Given the description of an element on the screen output the (x, y) to click on. 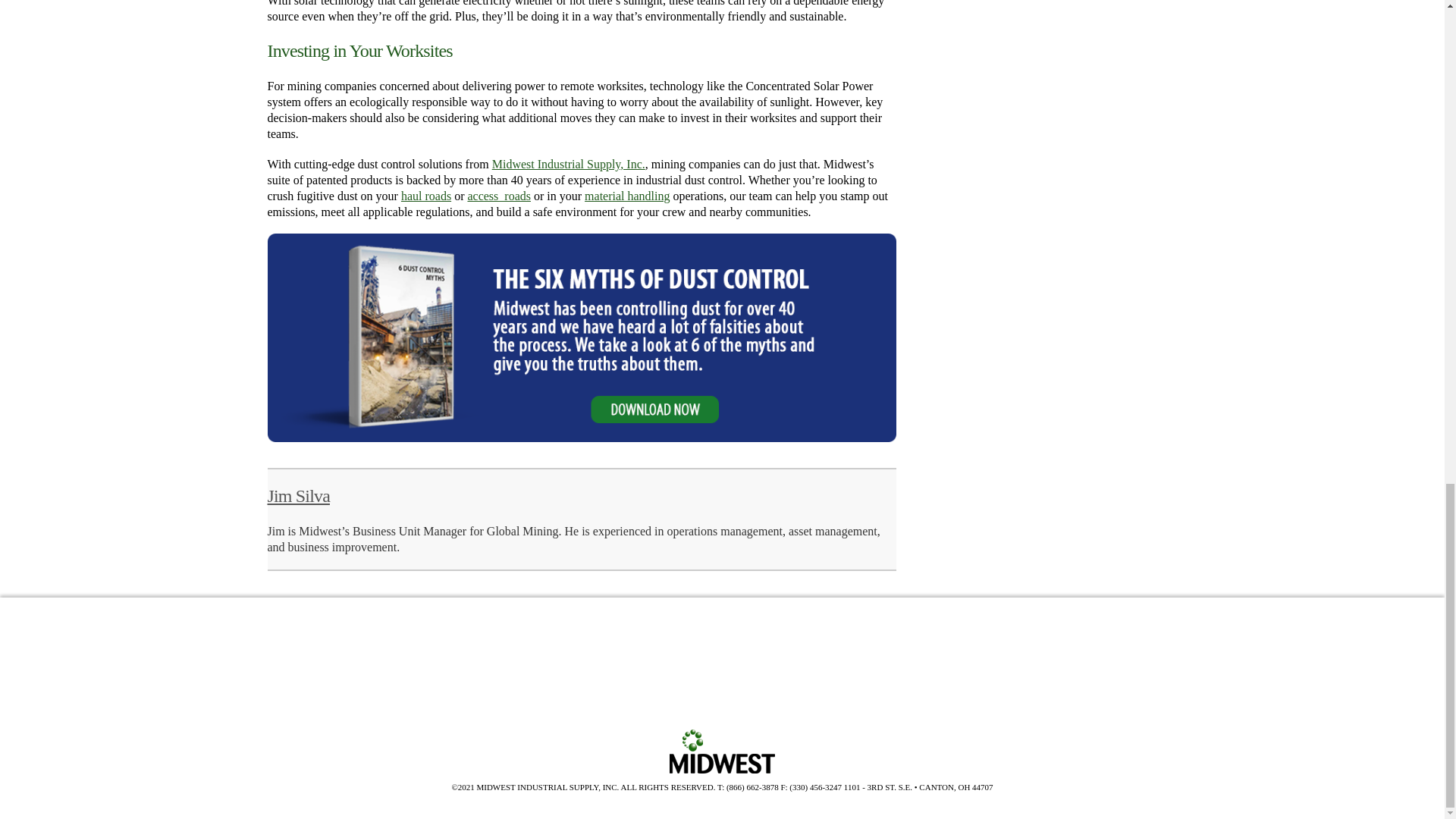
All posts by Jim Silva (297, 496)
Jim Silva (297, 496)
material handling (627, 195)
Midwest Industrial Supply, Inc. (568, 164)
access  roads (499, 195)
haul roads (426, 195)
